Given the description of an element on the screen output the (x, y) to click on. 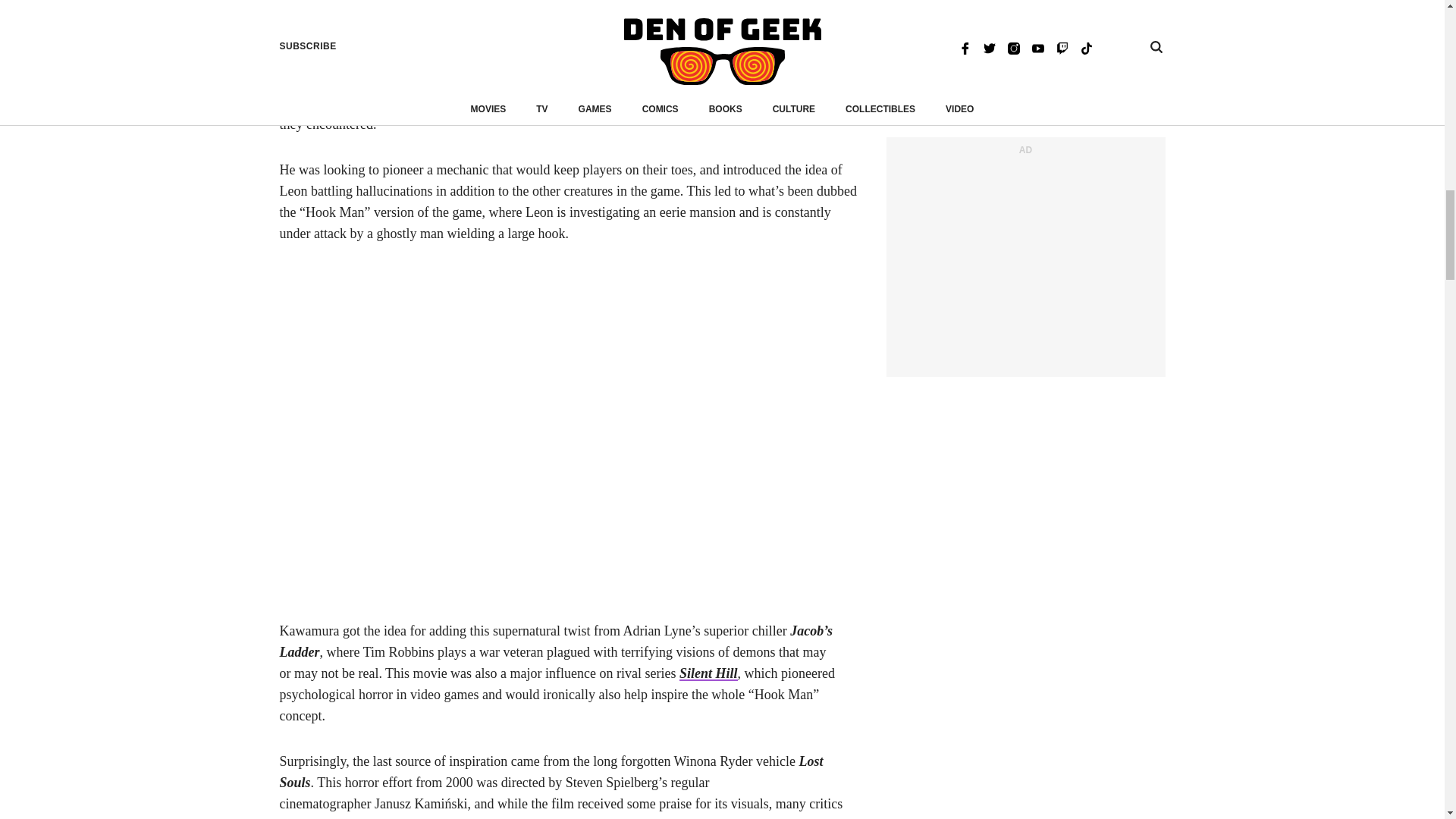
Silent Hill on Den of Geek (708, 672)
